Given the description of an element on the screen output the (x, y) to click on. 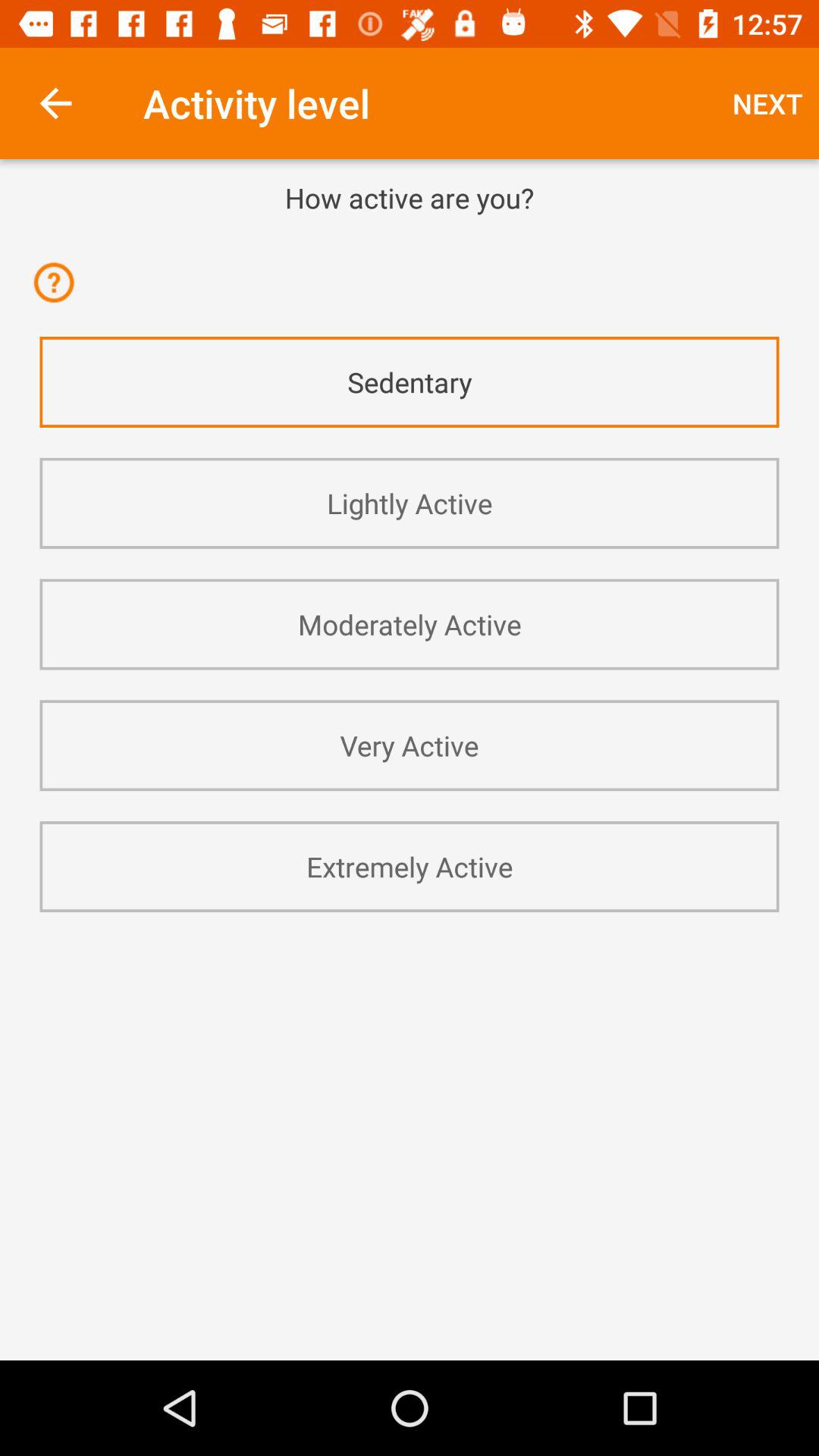
select extremely active app (409, 866)
